Given the description of an element on the screen output the (x, y) to click on. 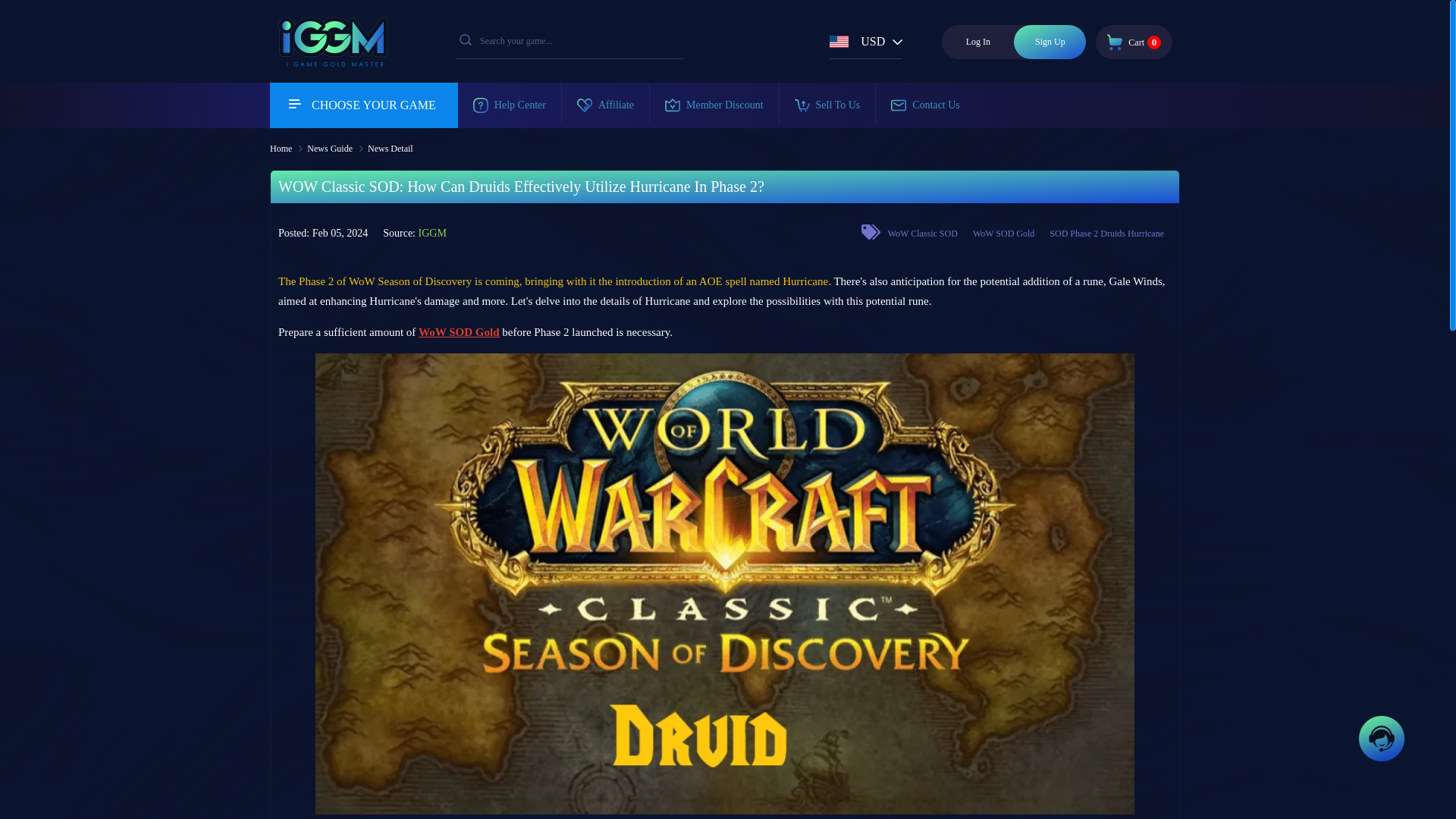
IGGM (1134, 41)
Log In (328, 60)
SOD Phase 2 Druids Hurricane (977, 41)
WoW SOD Gold (1107, 233)
WoW Classic SOD (459, 331)
Sign Up (922, 233)
WoW SOD Gold (1049, 41)
